Given the description of an element on the screen output the (x, y) to click on. 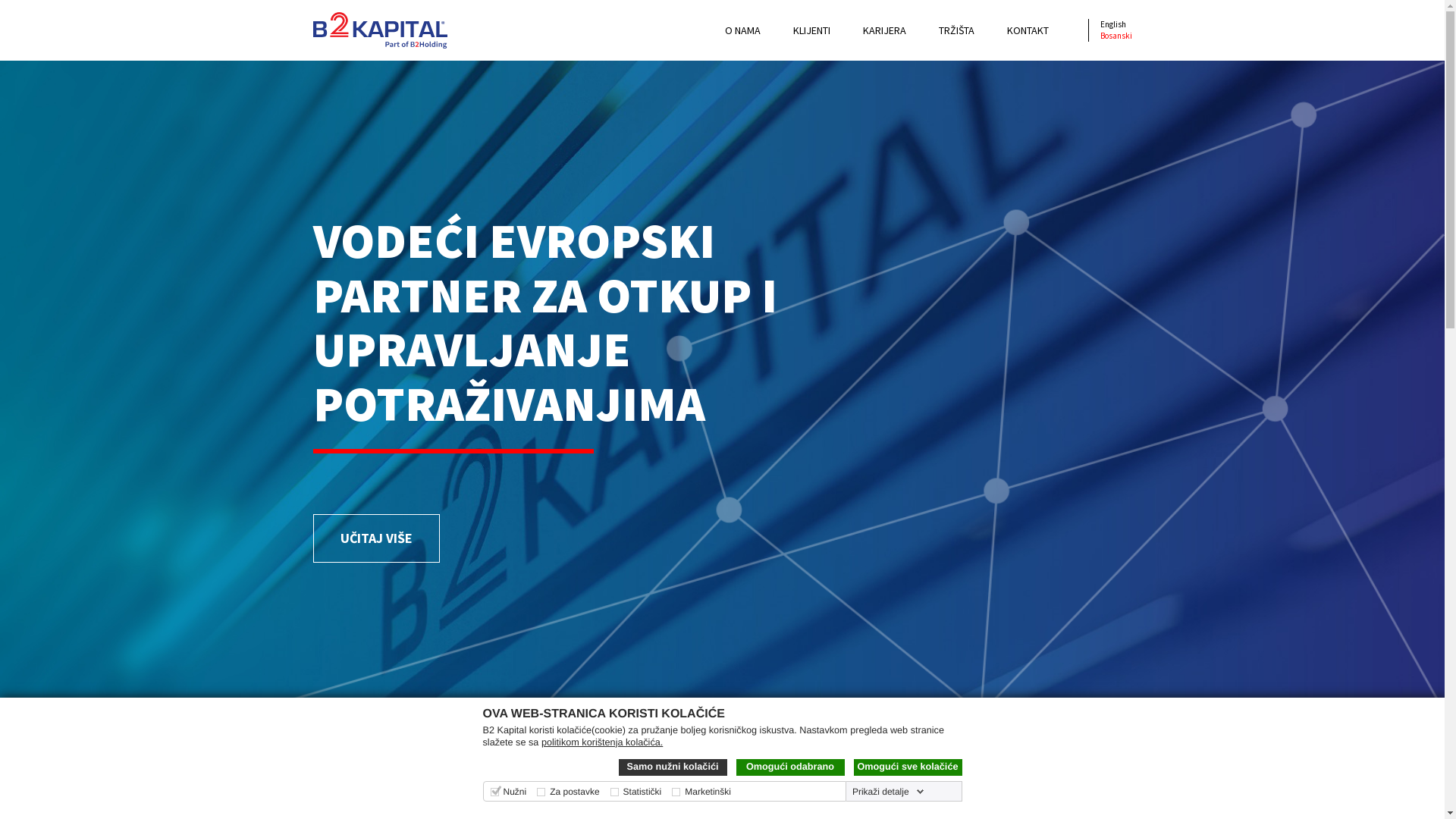
English Element type: text (1112, 23)
O NAMA Element type: text (742, 29)
KONTAKT Element type: text (1027, 29)
KLIJENTI Element type: text (811, 29)
Bosanski Element type: text (1115, 35)
KARIJERA Element type: text (884, 29)
